Given the description of an element on the screen output the (x, y) to click on. 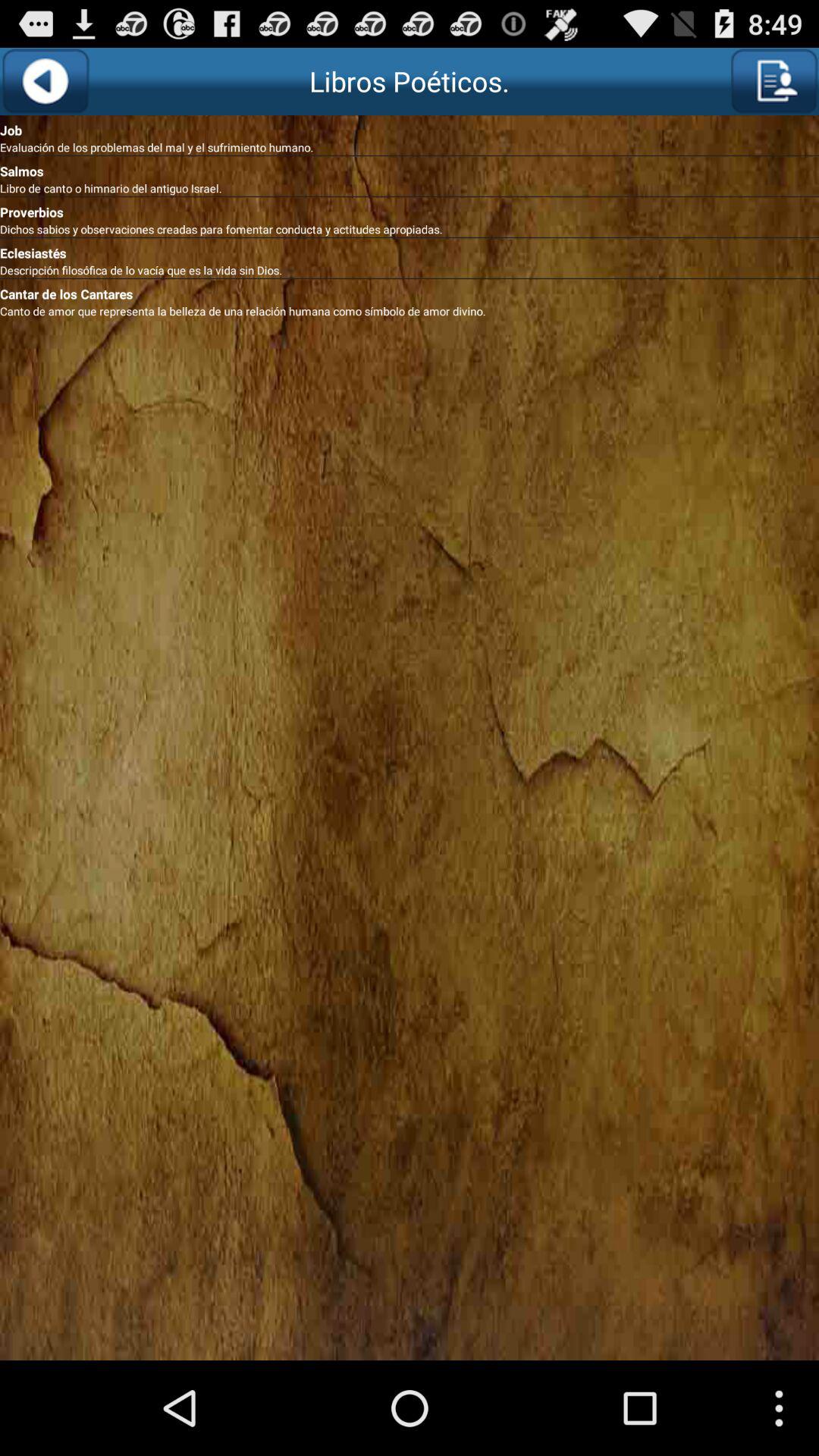
jump until the job item (409, 127)
